Given the description of an element on the screen output the (x, y) to click on. 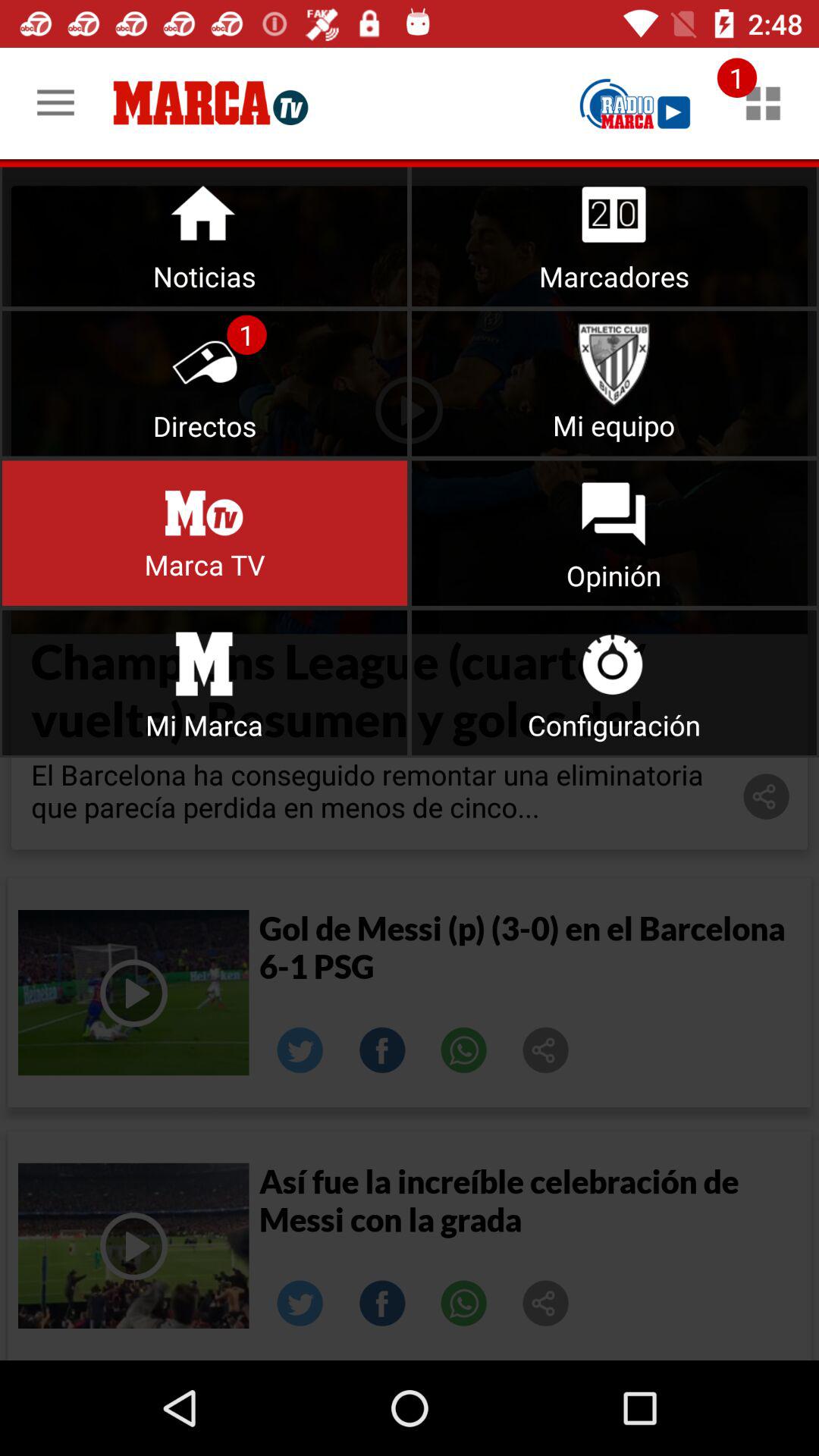
check notifications (763, 103)
